Given the description of an element on the screen output the (x, y) to click on. 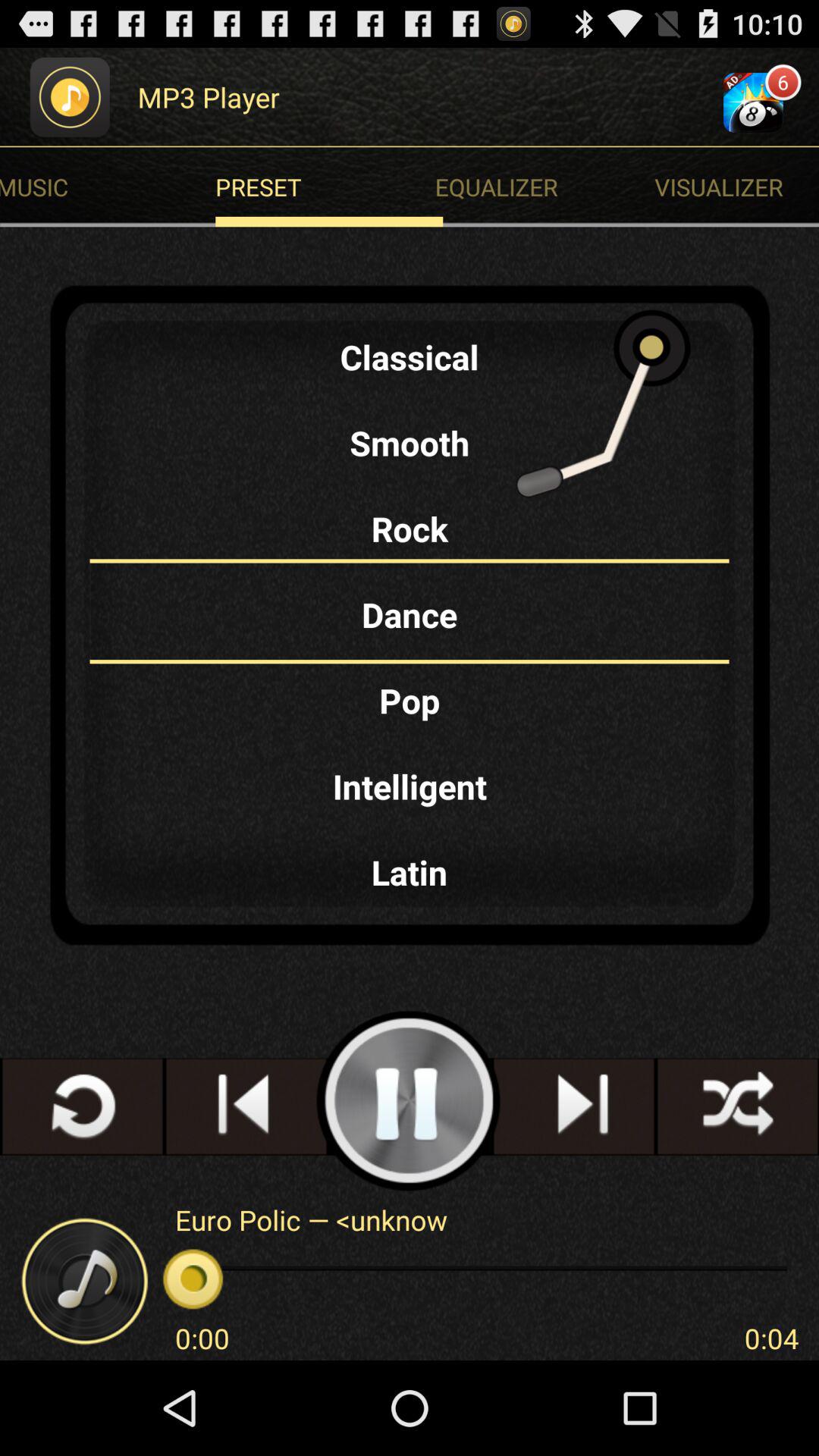
press preset at the top (329, 186)
